Given the description of an element on the screen output the (x, y) to click on. 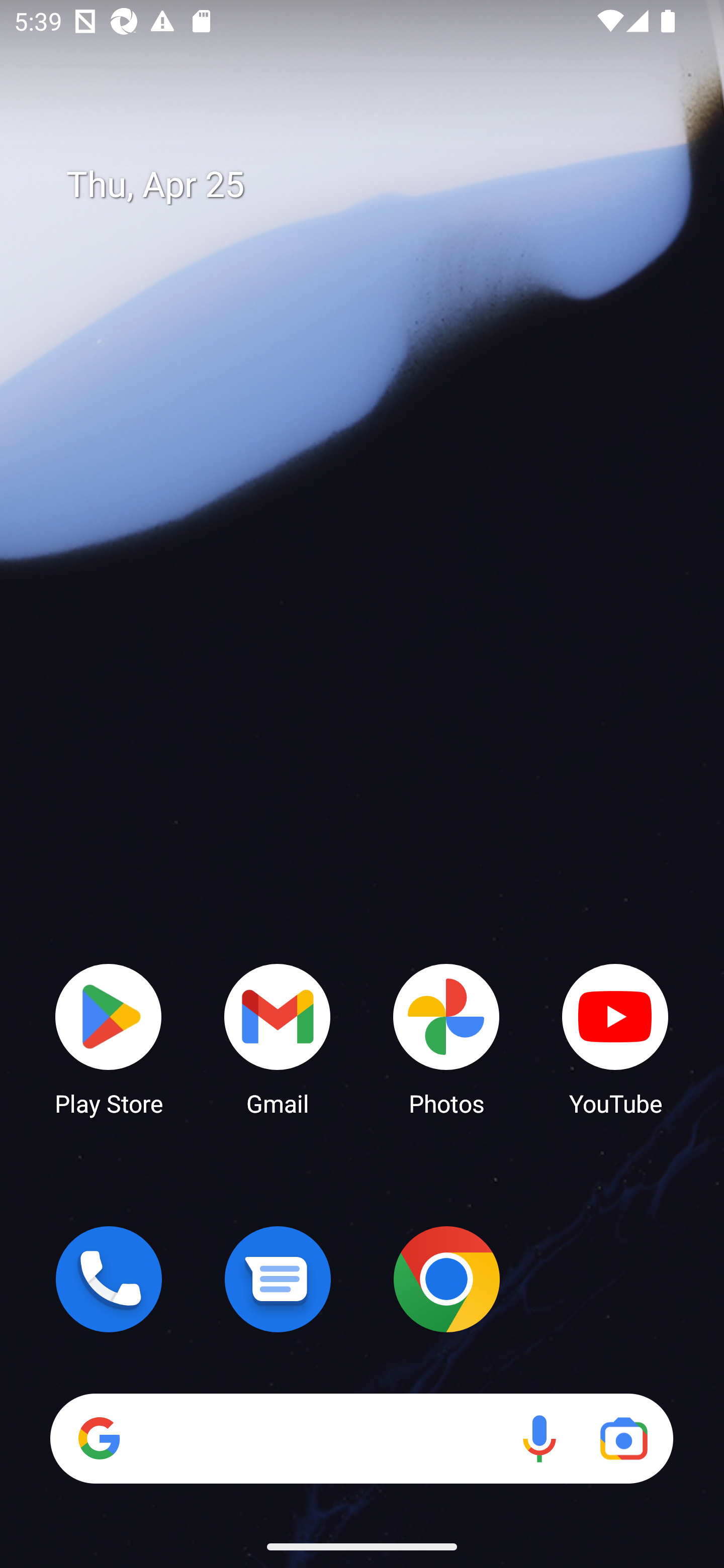
Thu, Apr 25 (375, 184)
Play Store (108, 1038)
Gmail (277, 1038)
Photos (445, 1038)
YouTube (615, 1038)
Phone (108, 1279)
Messages (277, 1279)
Chrome (446, 1279)
Search Voice search Google Lens (361, 1438)
Voice search (539, 1438)
Google Lens (623, 1438)
